Given the description of an element on the screen output the (x, y) to click on. 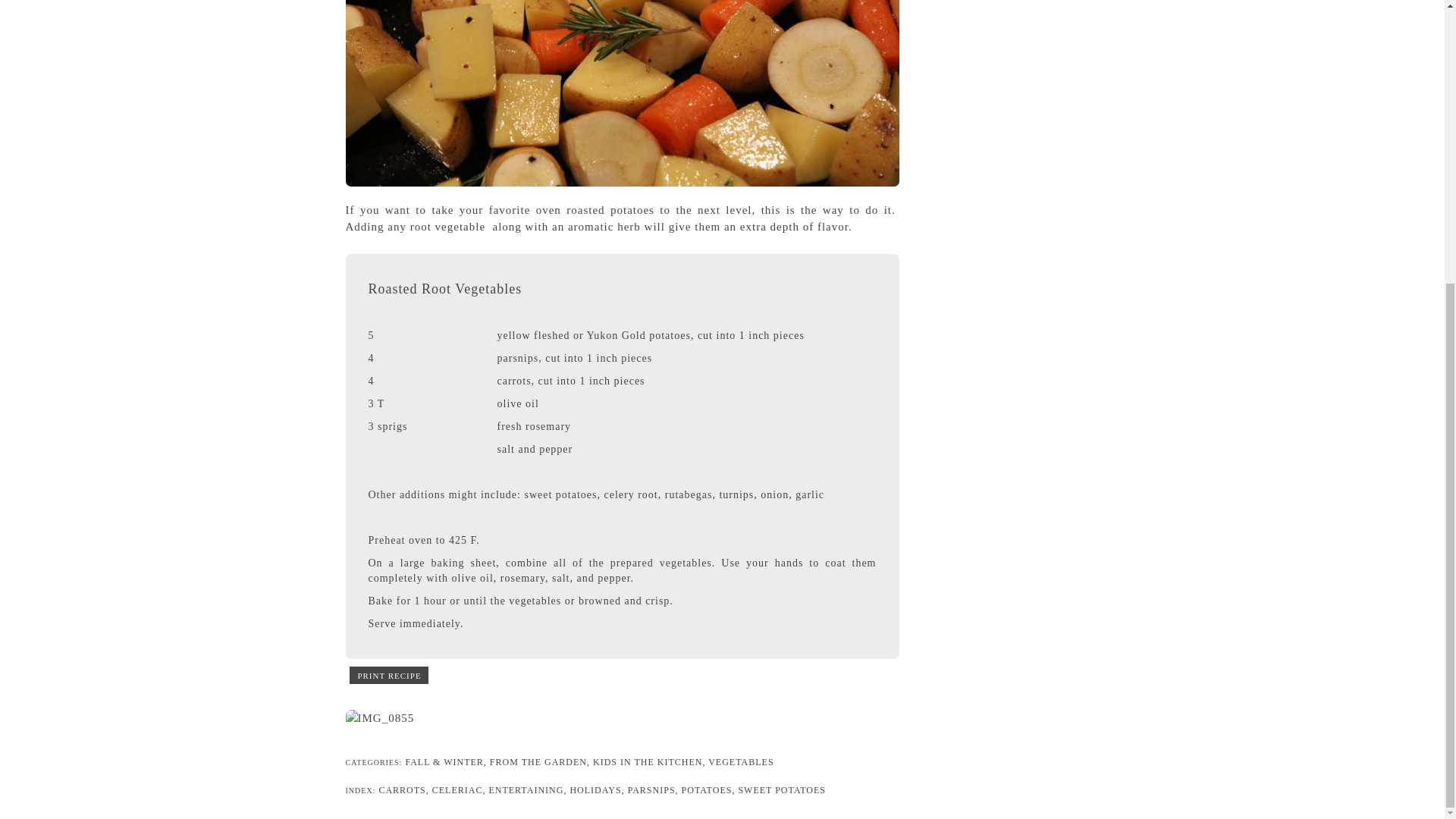
VEGETABLES (740, 761)
Print Recipe (389, 676)
KIDS IN THE KITCHEN (646, 761)
ENTERTAINING (525, 789)
FROM THE GARDEN (537, 761)
PRINT RECIPE (389, 676)
CARROTS (401, 789)
CELERIAC (457, 789)
